Given the description of an element on the screen output the (x, y) to click on. 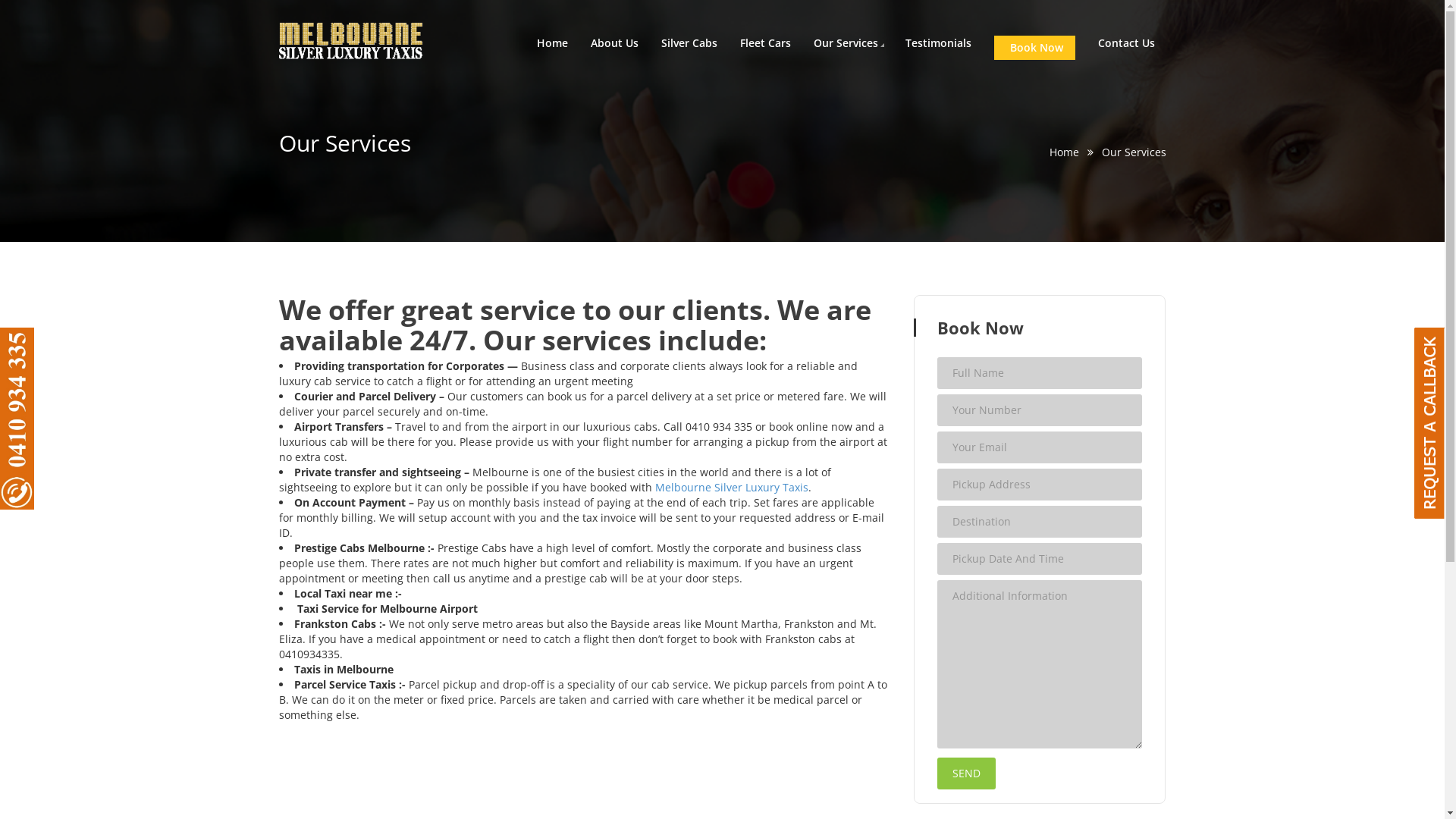
Testimonials Element type: text (938, 42)
Fleet Cars Element type: text (765, 42)
Book Now Element type: text (1033, 47)
Contact Us Element type: text (1126, 42)
Home Element type: text (551, 42)
Silver Cabs Element type: text (689, 42)
SEND Element type: text (966, 773)
Our Services Element type: text (844, 42)
Home Element type: text (1064, 151)
Melbourne Silver Luxury Taxis Element type: text (731, 487)
About Us Element type: text (613, 42)
